Given the description of an element on the screen output the (x, y) to click on. 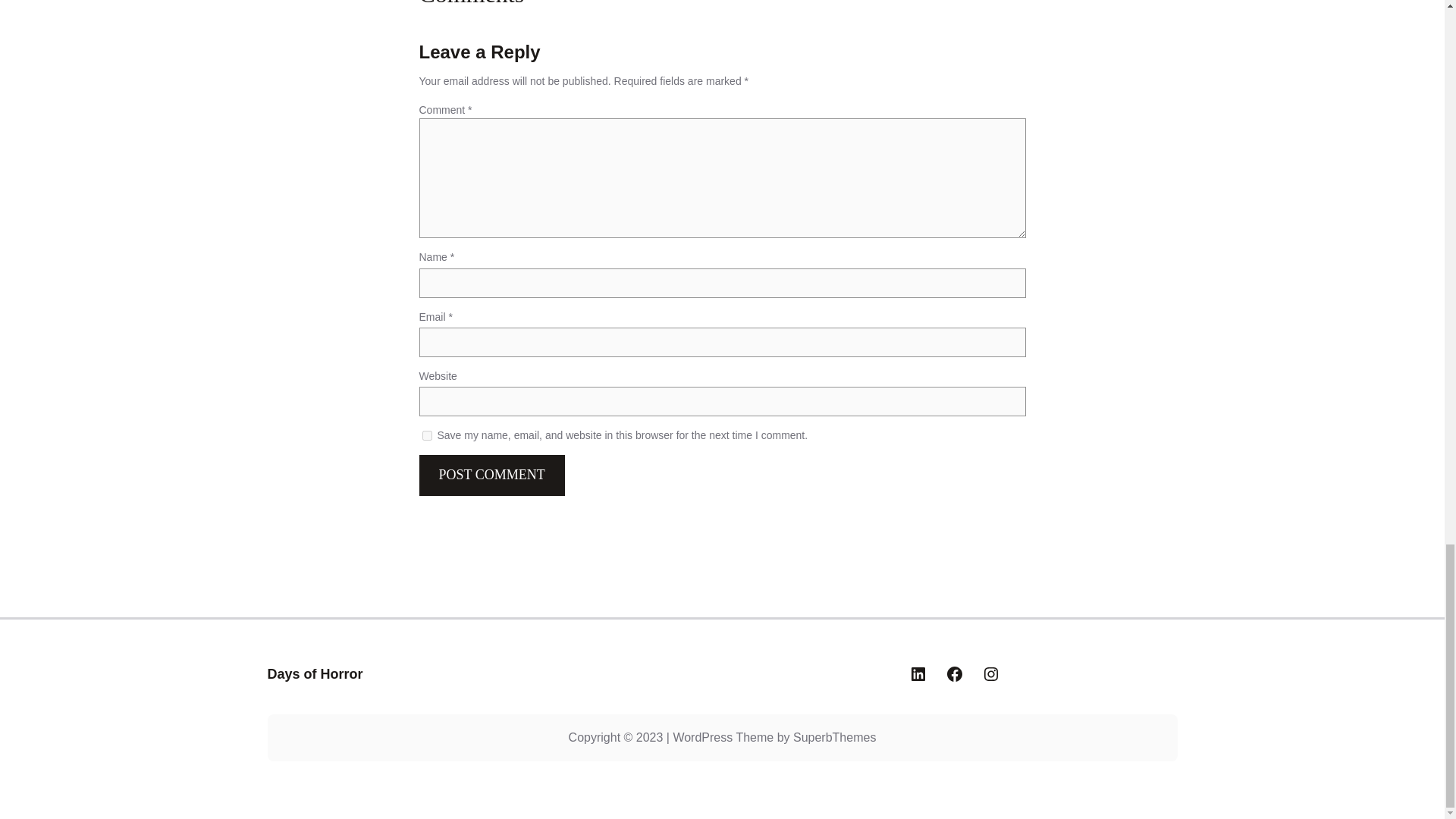
Post Comment (491, 475)
Instagram (989, 674)
Days of Horror (314, 673)
SuperbThemes (834, 737)
yes (426, 435)
Post Comment (491, 475)
Facebook (953, 674)
LinkedIn (917, 674)
